Given the description of an element on the screen output the (x, y) to click on. 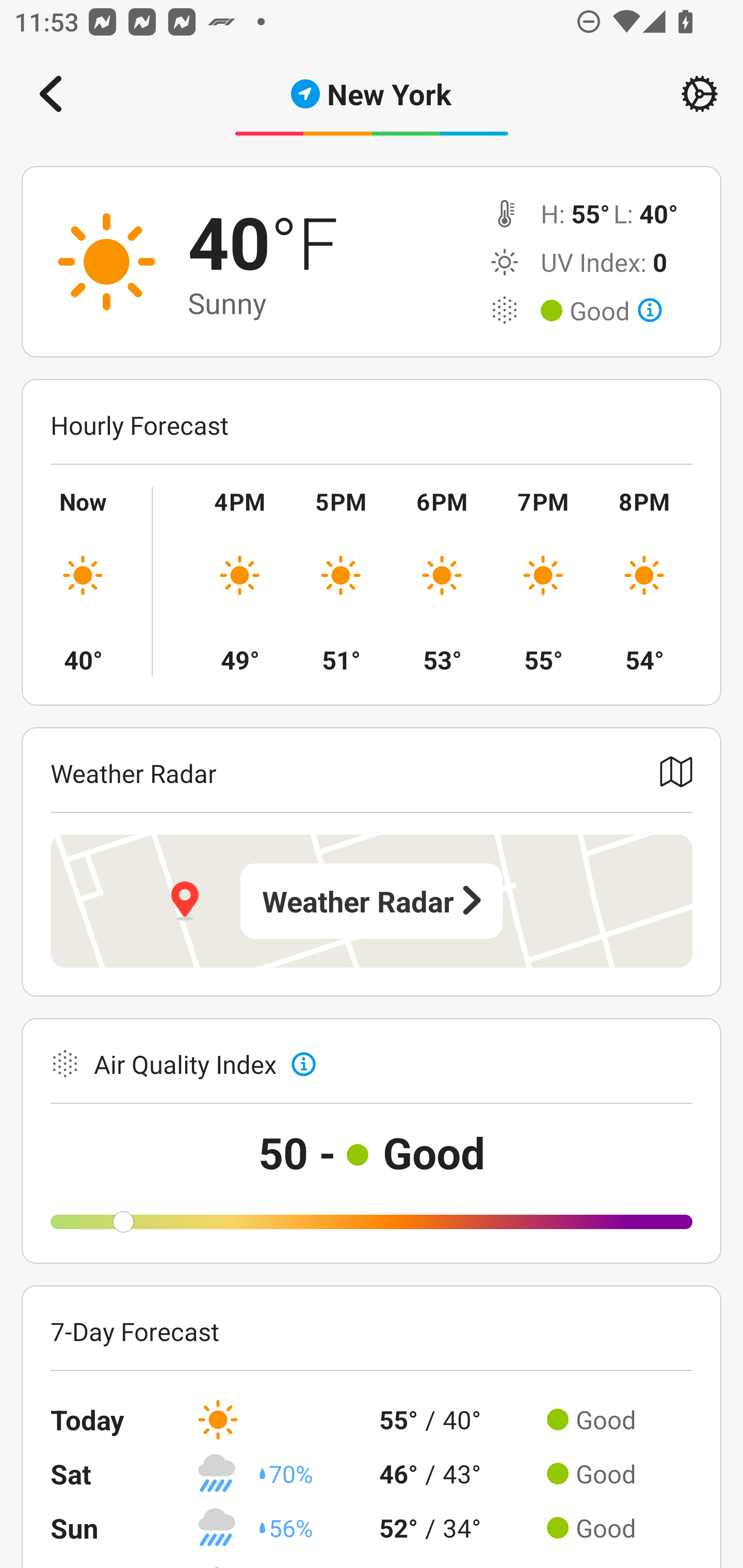
Navigate up (50, 93)
Setting (699, 93)
Good (615, 310)
Weather Radar (371, 900)
